Given the description of an element on the screen output the (x, y) to click on. 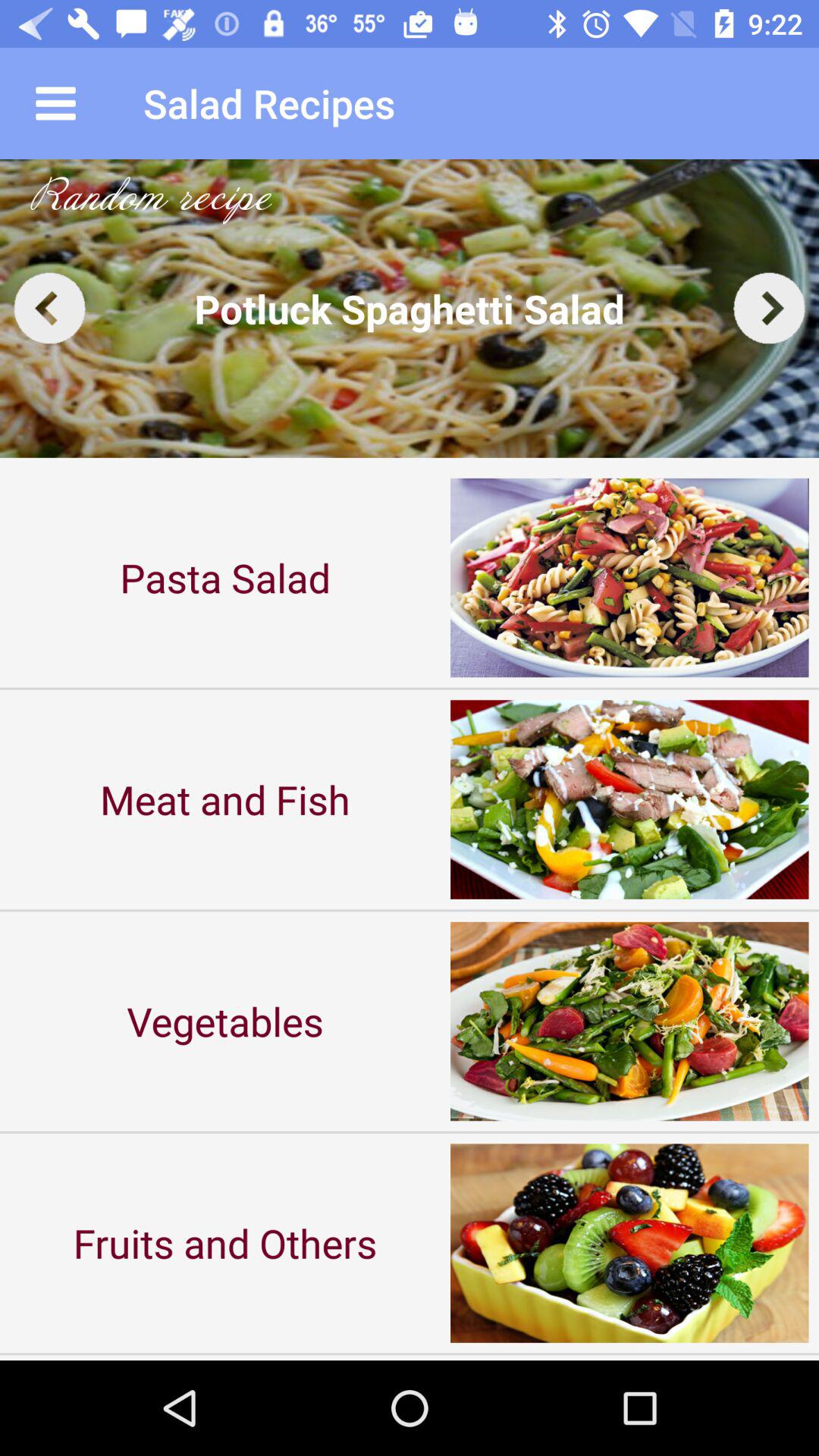
open the fruits and others (225, 1242)
